Given the description of an element on the screen output the (x, y) to click on. 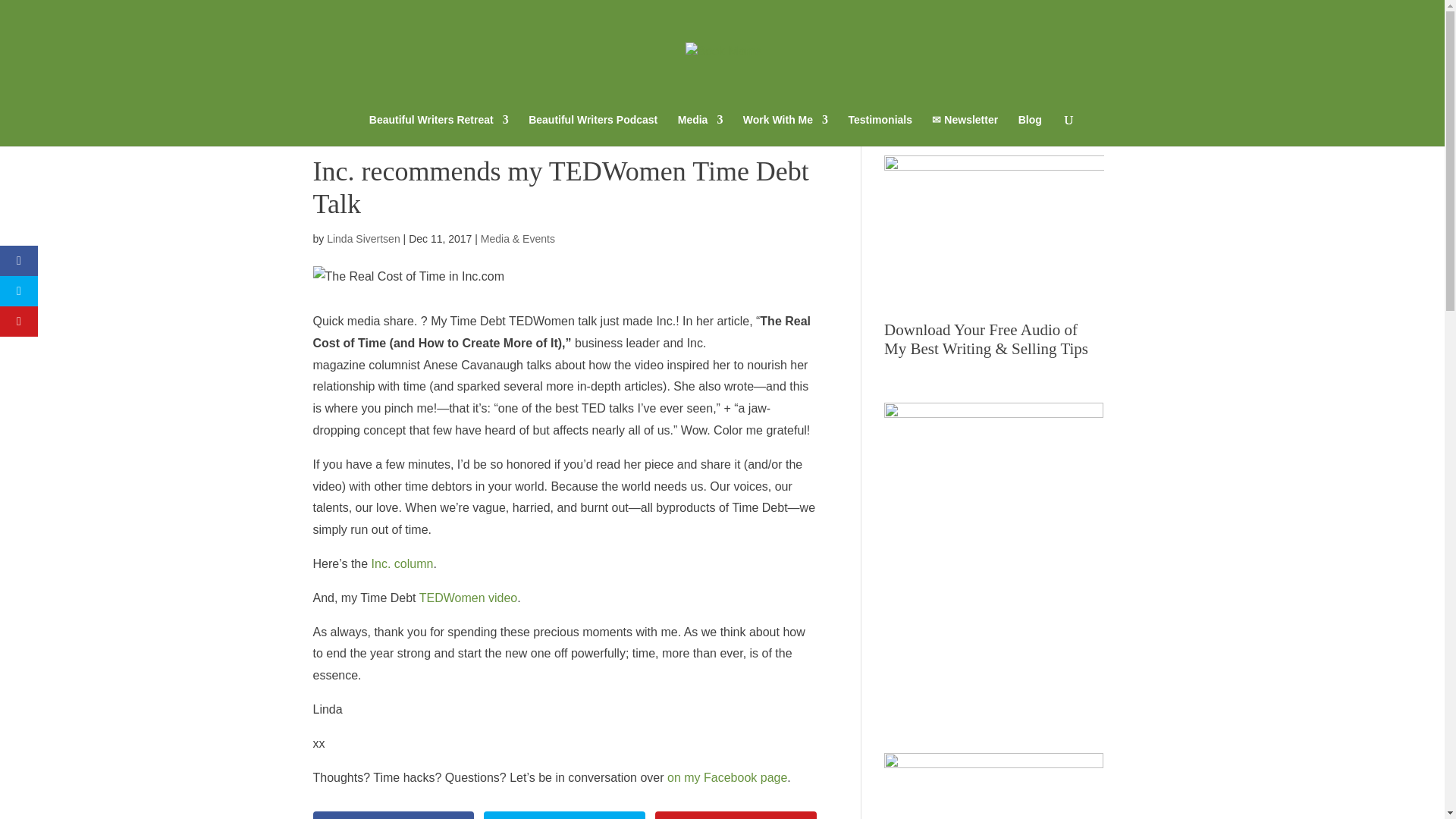
Beautiful Writers Retreat (438, 130)
Work With Me (785, 130)
Beautiful Writers Podcast (593, 130)
TEDWomen video (468, 597)
Inc. column (402, 563)
Pinterest (735, 815)
Linda Sivertsen (363, 238)
Twitter (564, 815)
Facebook (393, 815)
Testimonials (879, 130)
